Given the description of an element on the screen output the (x, y) to click on. 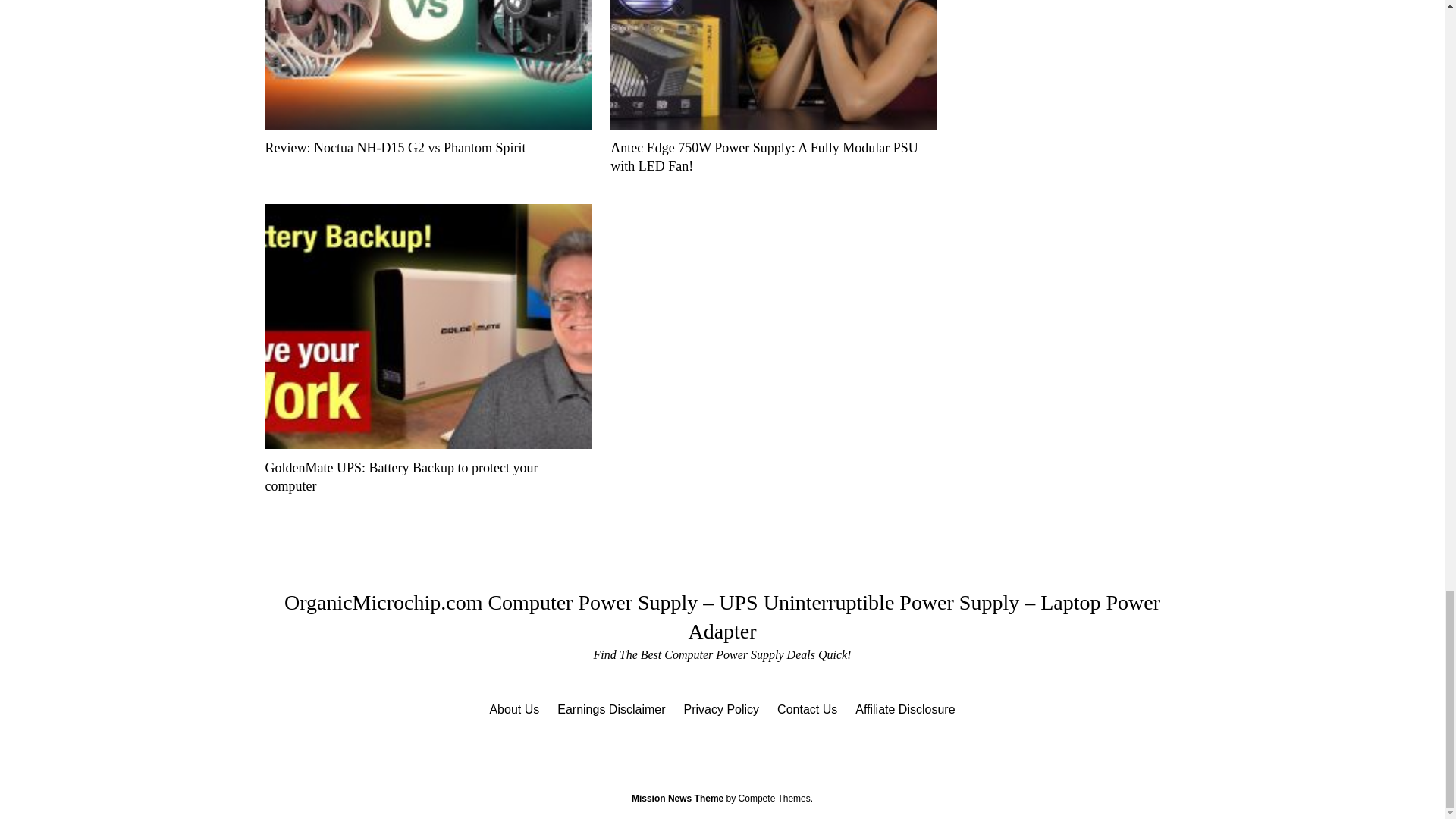
GoldenMate UPS: Battery Backup to protect your computer (427, 477)
Review: Noctua NH-D15 G2 vs Phantom Spirit (427, 148)
